Given the description of an element on the screen output the (x, y) to click on. 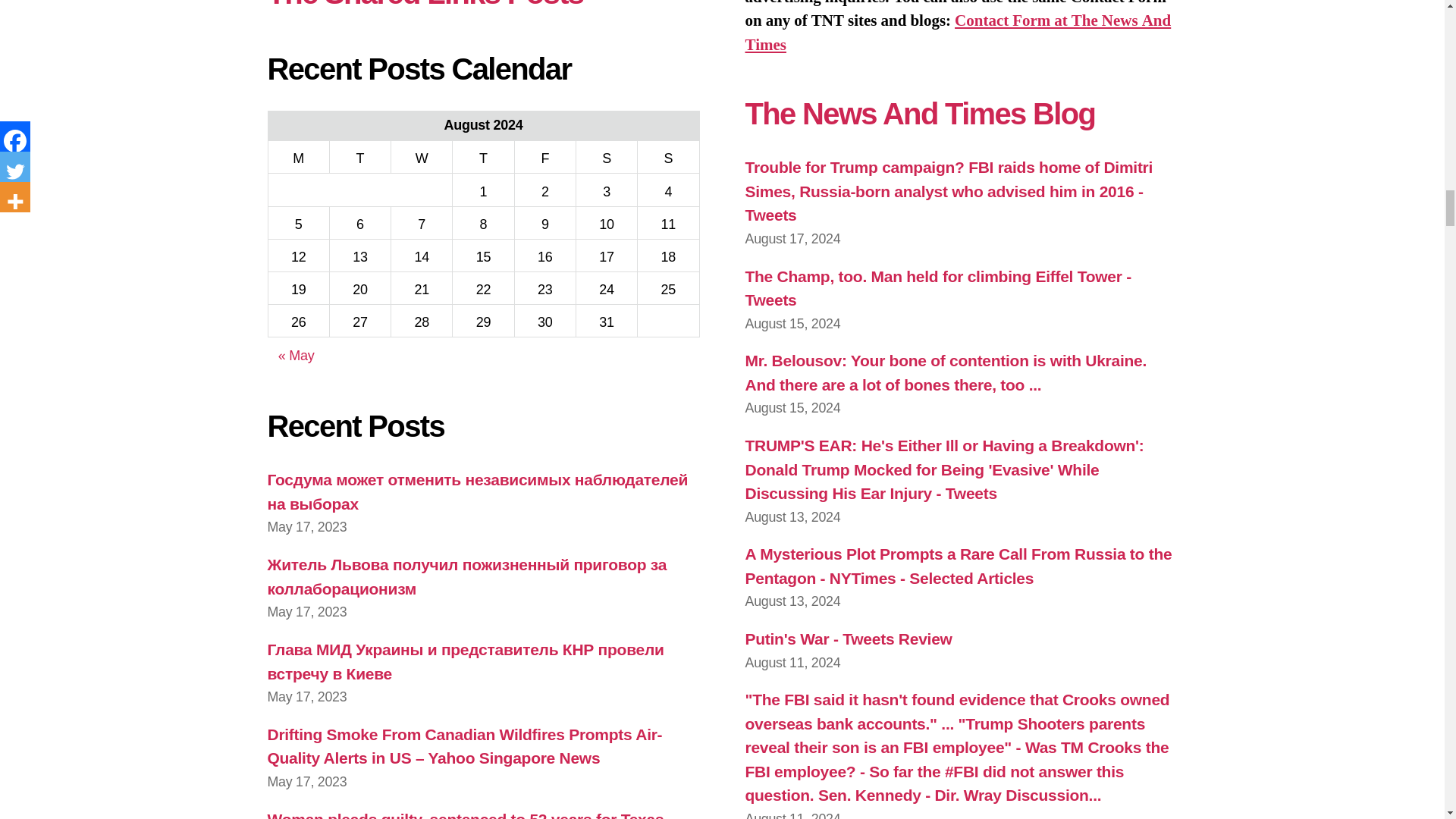
Thursday (482, 156)
Wednesday (421, 156)
Tuesday (359, 156)
Monday (298, 156)
Friday (544, 156)
Saturday (606, 156)
